Given the description of an element on the screen output the (x, y) to click on. 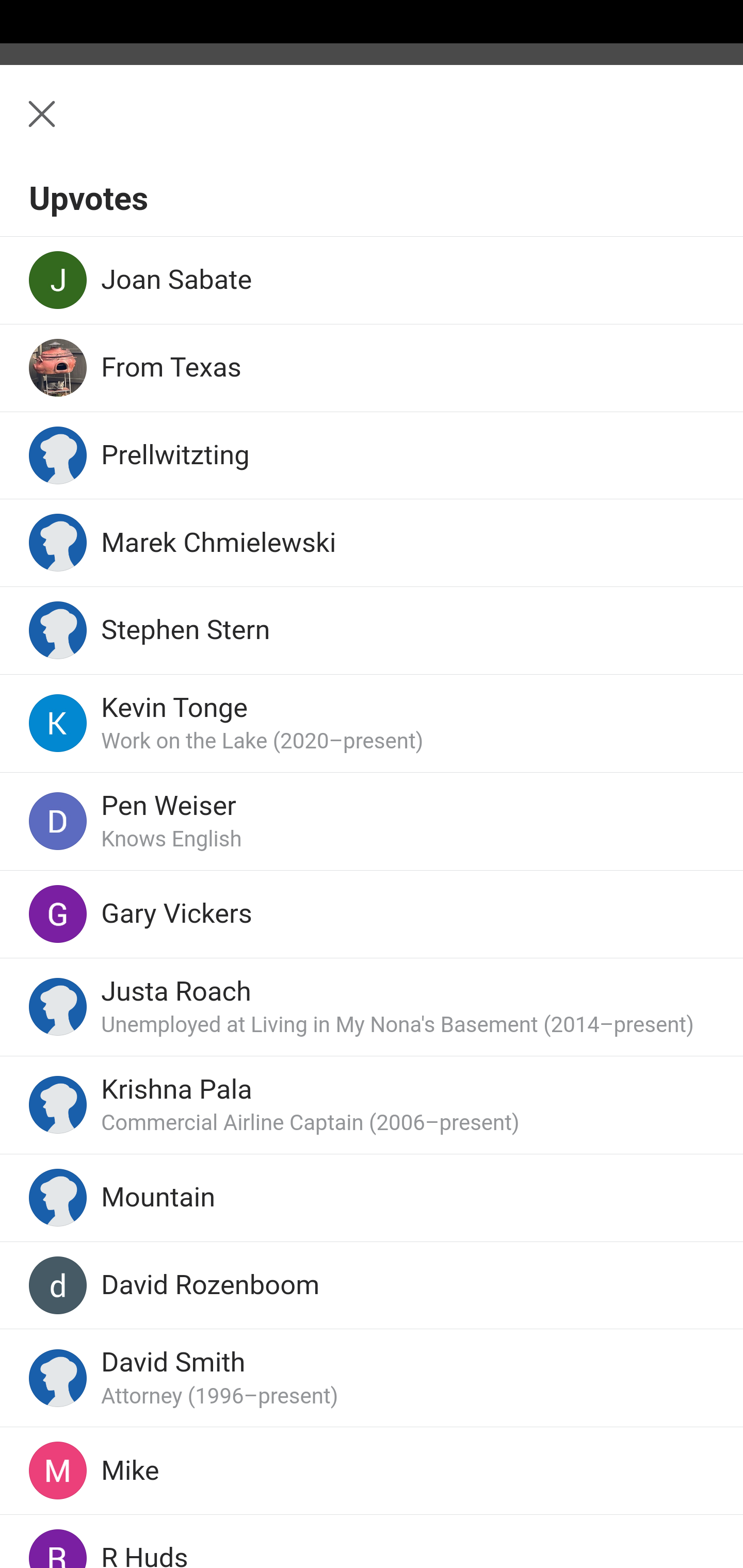
Back Answer (371, 125)
Back (30, 125)
Can I see your sissy’s pictures? (372, 231)
Profile photo for Ashley M (61, 315)
Ashley M (157, 300)
Follow (258, 300)
Tue (493, 335)
Tue (493, 335)
View 111 upvotes (216, 1336)
View 2 shares (385, 1336)
1 of 4 answers (644, 1337)
Upvote (135, 1394)
Downvote (277, 1394)
7 comments (353, 1394)
2 shares (425, 1394)
More (688, 1394)
7 comments from Rizwana Nasir and more (371, 1473)
Hide (699, 1558)
Promoted by Adam Fayed (352, 1567)
